Given the description of an element on the screen output the (x, y) to click on. 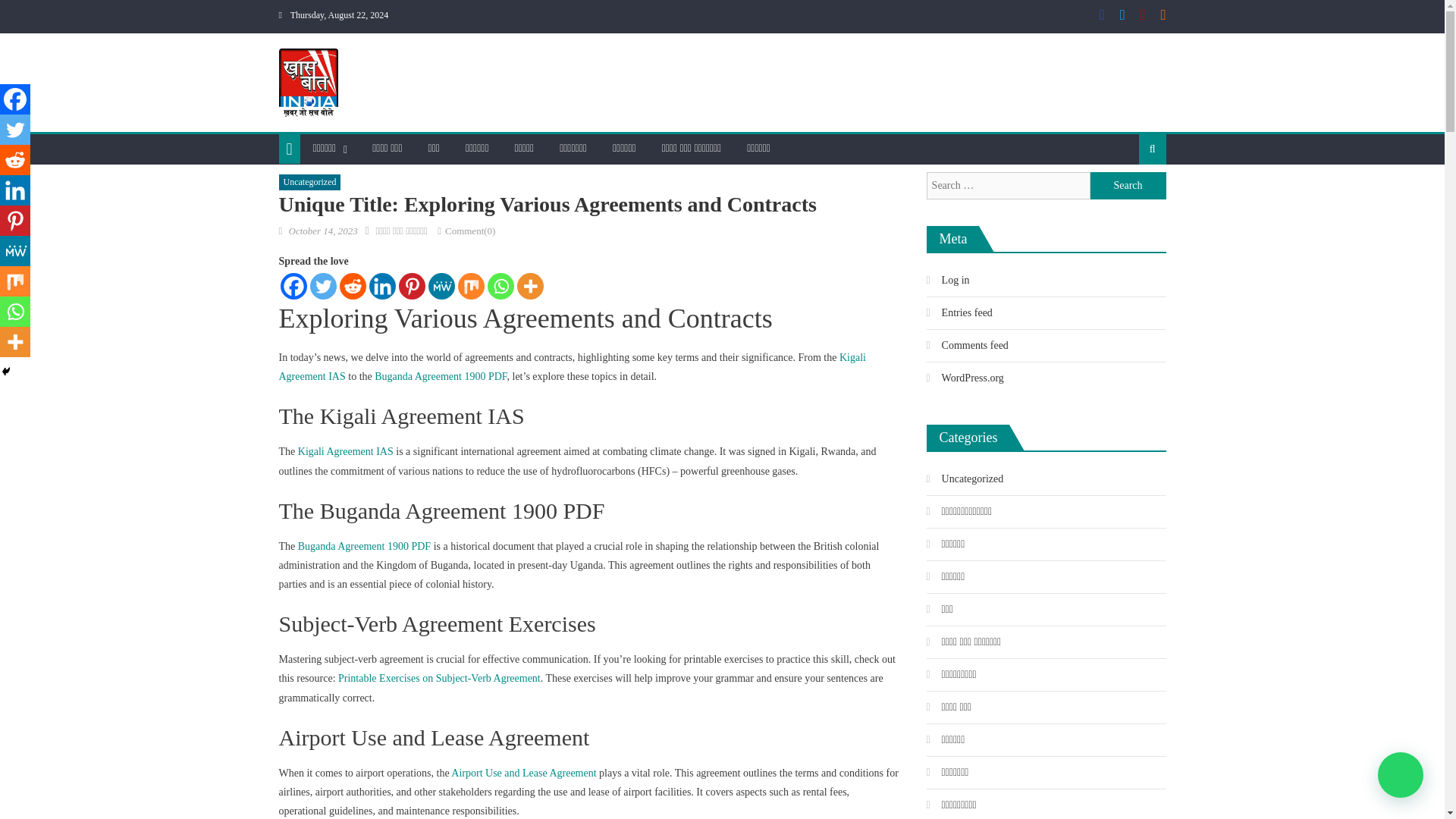
Whatsapp (499, 285)
MeWe (441, 285)
Printable Exercises on Subject-Verb Agreement (438, 677)
Twitter (15, 129)
Pinterest (411, 285)
Uncategorized (309, 182)
Facebook (294, 285)
Search (1128, 185)
Linkedin (381, 285)
Search (1128, 197)
